Given the description of an element on the screen output the (x, y) to click on. 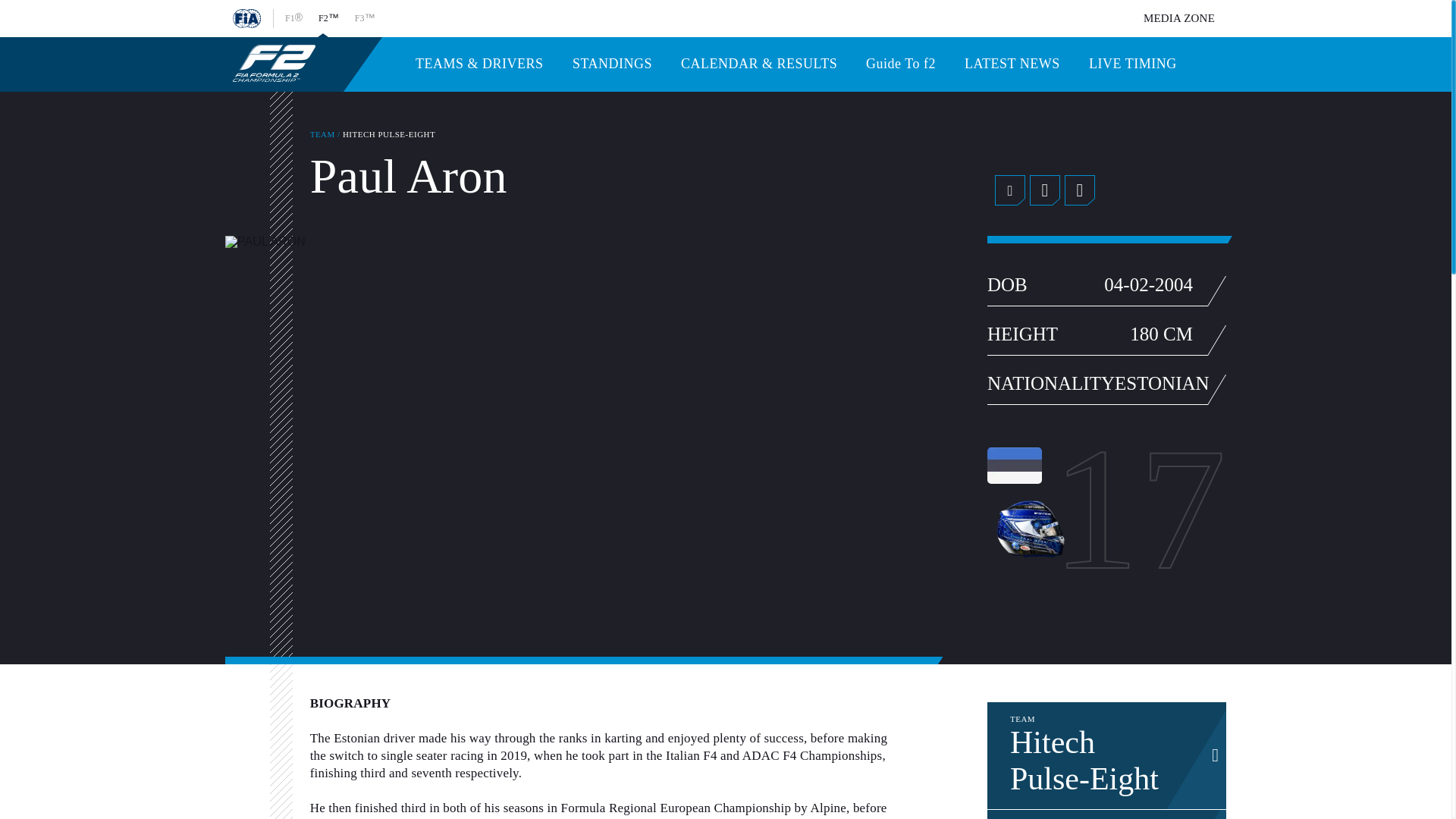
MEDIA ZONE (1178, 19)
STANDINGS (1106, 755)
Instagram (611, 63)
LATEST NEWS (1106, 814)
Twitter (1044, 190)
LIVE TIMING (1012, 63)
Guide To f2 (1009, 190)
Facebook (1132, 63)
